Given the description of an element on the screen output the (x, y) to click on. 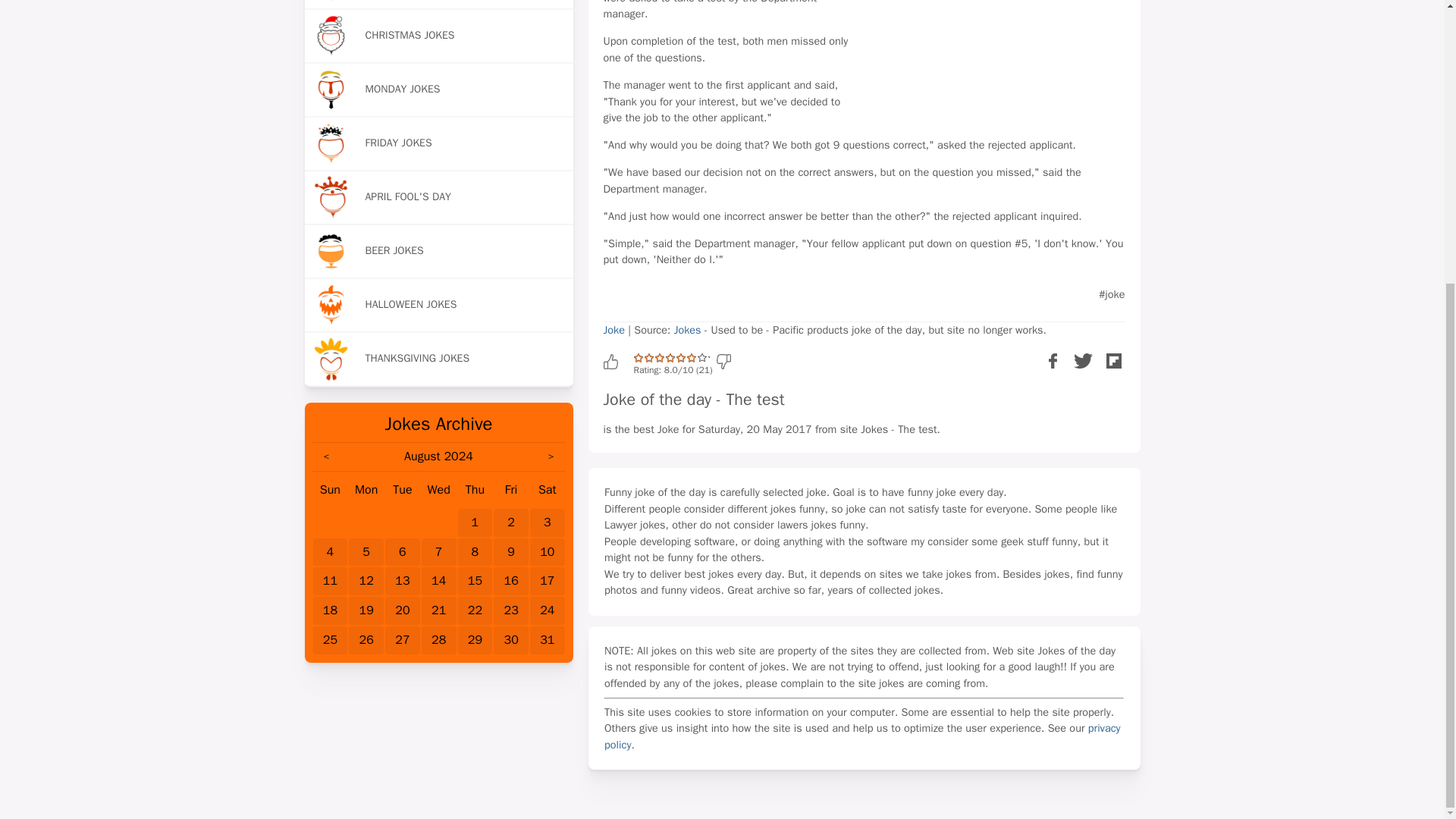
Joke (614, 329)
privacy policy (862, 736)
Jokes (689, 329)
